Given the description of an element on the screen output the (x, y) to click on. 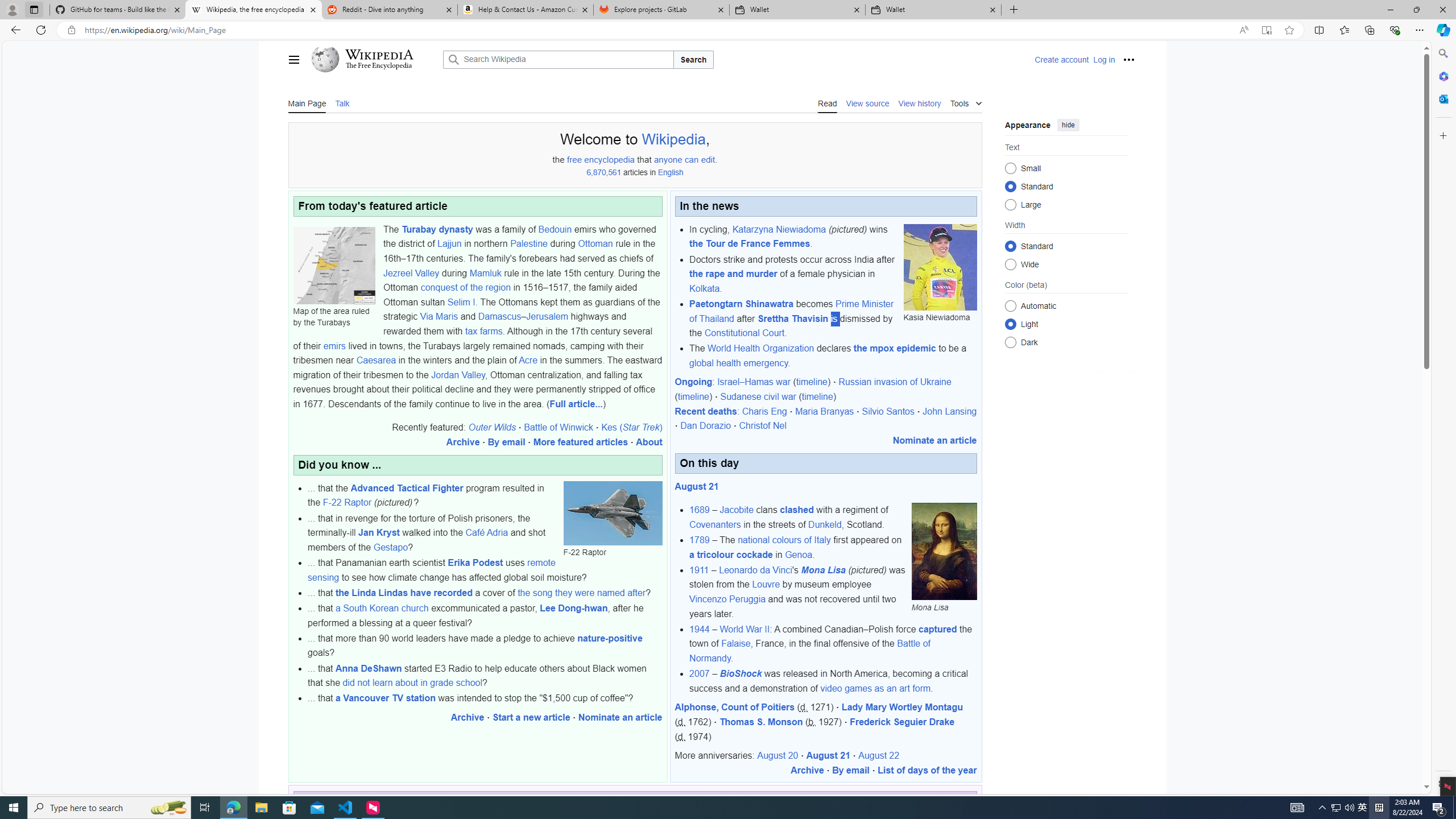
Turabay dynasty (436, 229)
clashed (796, 510)
Enter Immersive Reader (F9) (1266, 29)
Via Maris (438, 316)
Maria Branyas (824, 411)
English (671, 172)
tax farms (483, 330)
Sudanese civil war (timeline) (778, 396)
1689 (699, 510)
